Given the description of an element on the screen output the (x, y) to click on. 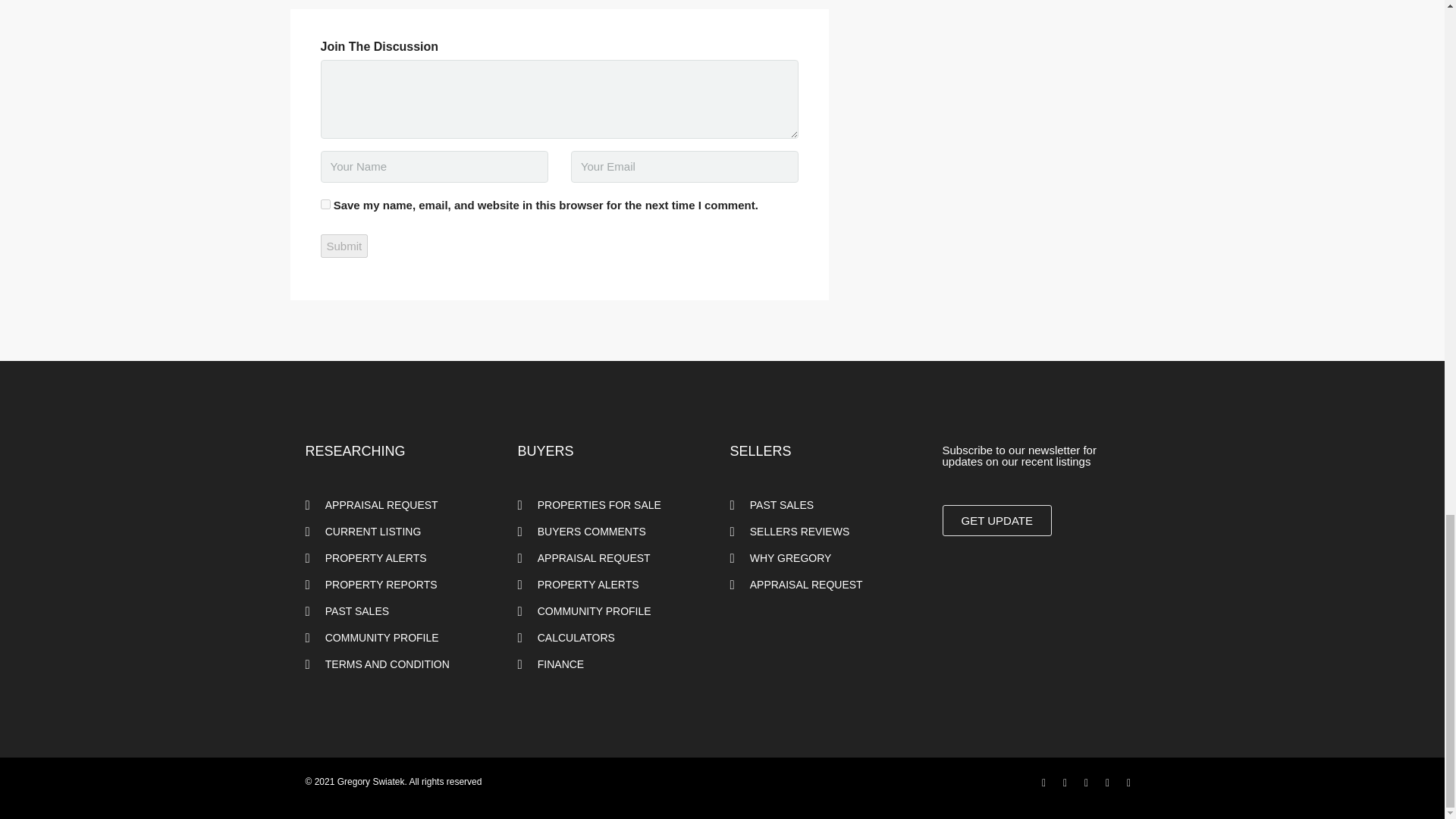
Submit (344, 245)
yes (325, 204)
